Given the description of an element on the screen output the (x, y) to click on. 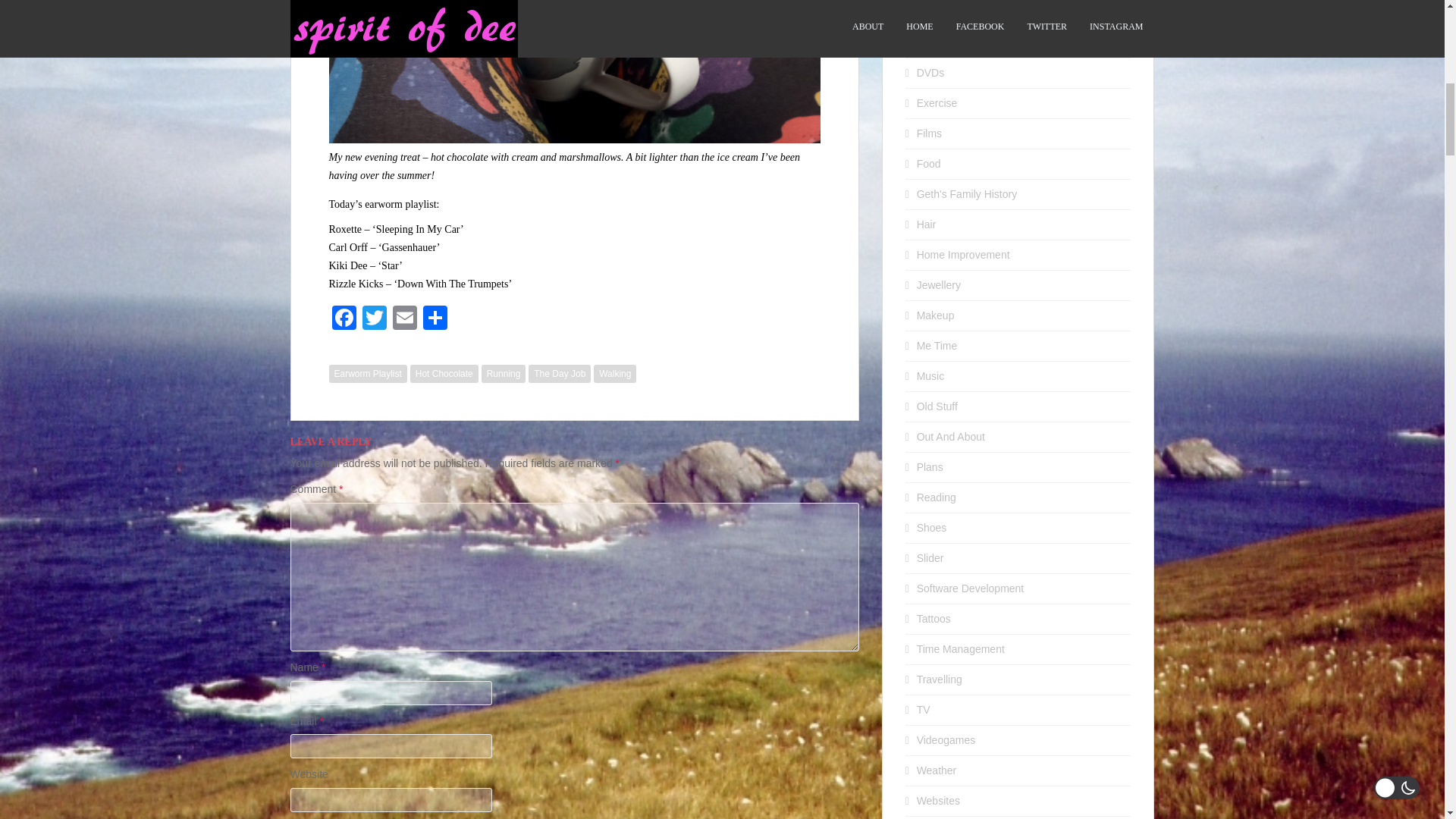
Running (503, 373)
Twitter (374, 319)
Hot Chocolate (444, 373)
Facebook (344, 319)
Walking (615, 373)
The Day Job (559, 373)
Facebook (344, 319)
Email (405, 319)
Earworm Playlist (368, 373)
Twitter (374, 319)
